Given the description of an element on the screen output the (x, y) to click on. 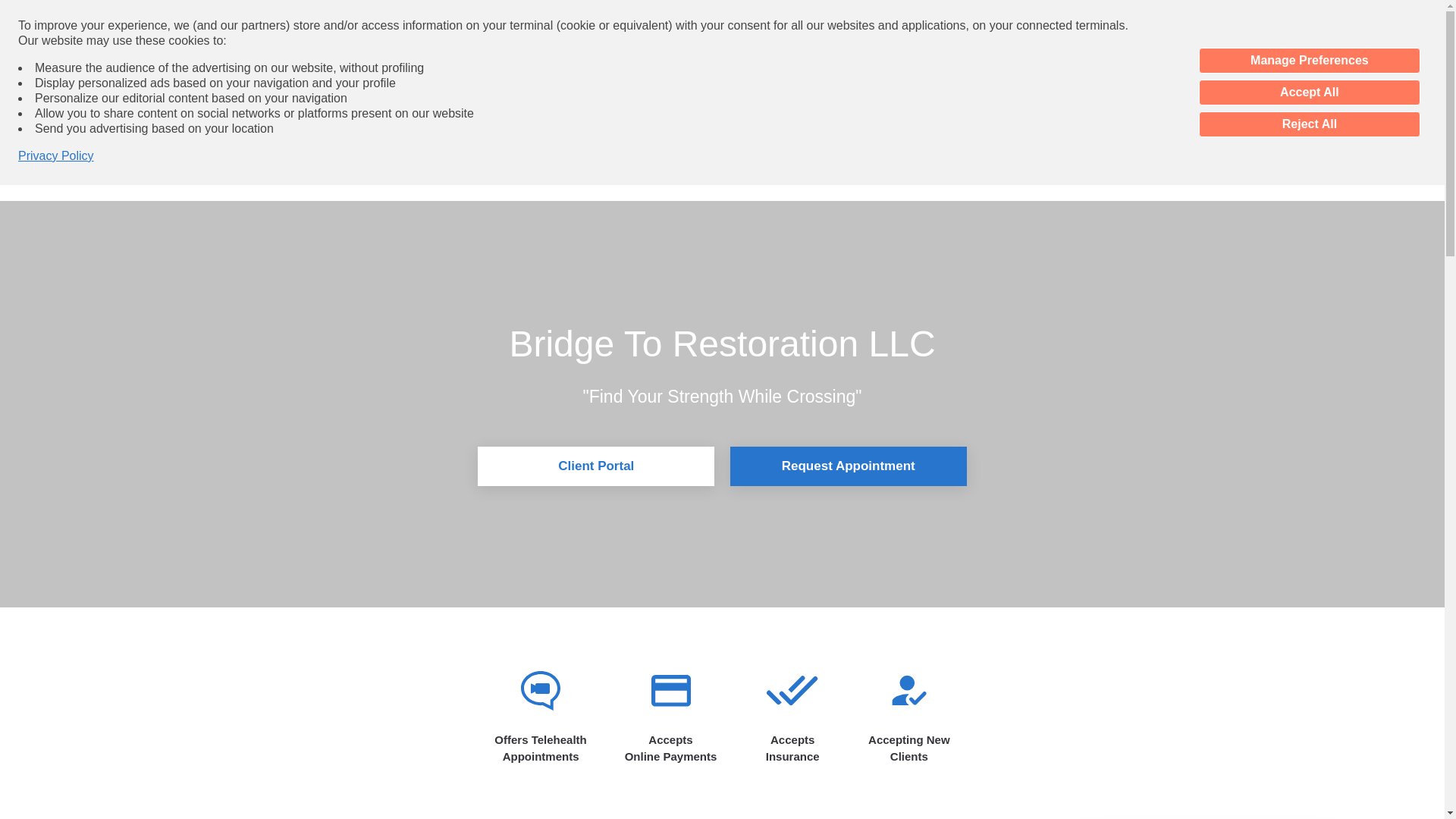
Client Portal (595, 466)
Accept All (1309, 92)
Privacy Policy (55, 155)
502.509.7001 (741, 98)
Reject All (1309, 124)
Request Appointment (848, 466)
Home (652, 154)
Contact (834, 98)
Manage Preferences (1309, 60)
About (714, 154)
